Given the description of an element on the screen output the (x, y) to click on. 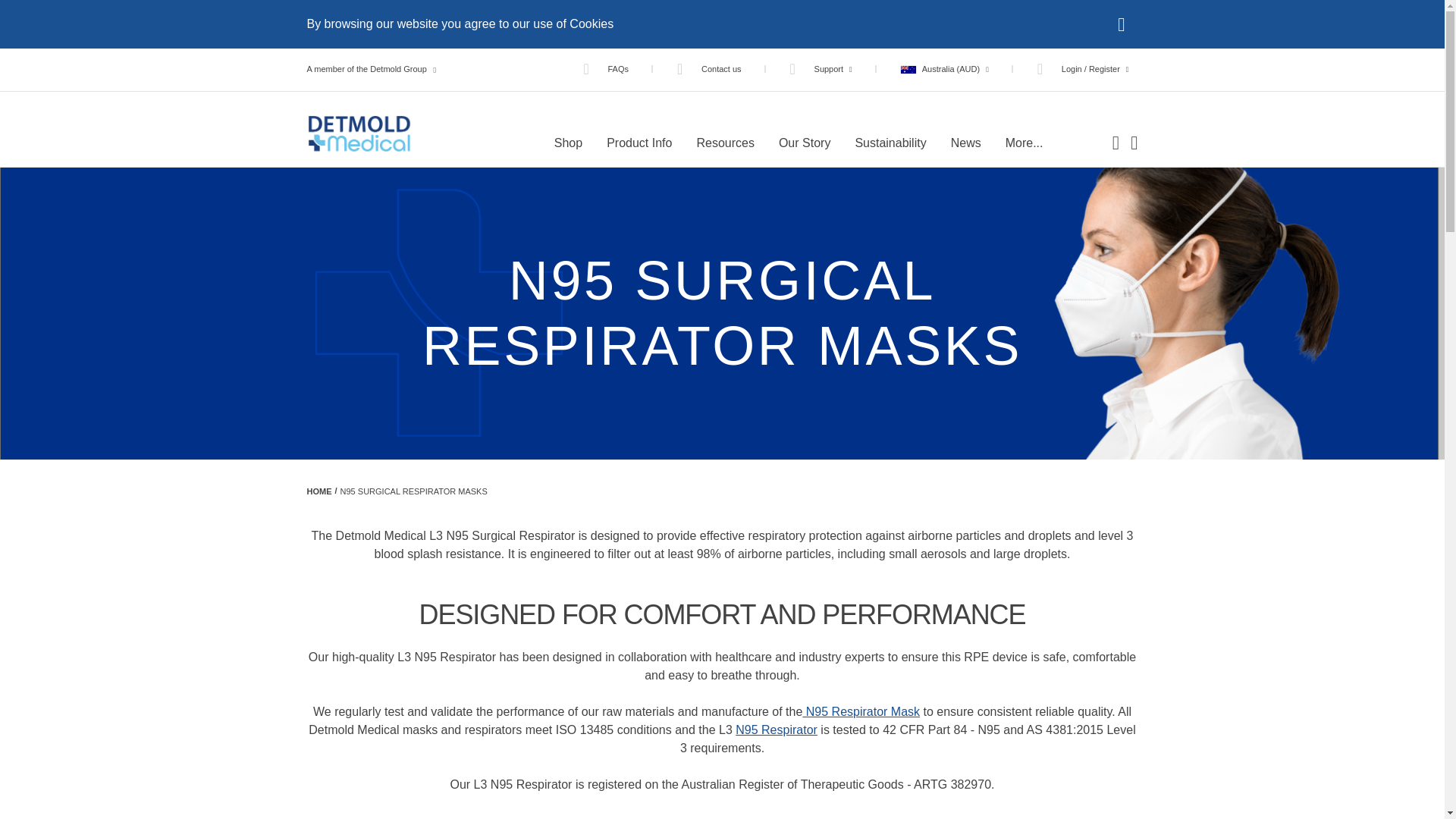
FAQs (605, 69)
Contact us (708, 69)
Shop (567, 142)
Support (820, 69)
A member of the Detmold Group (370, 69)
Product Info (639, 142)
